Given the description of an element on the screen output the (x, y) to click on. 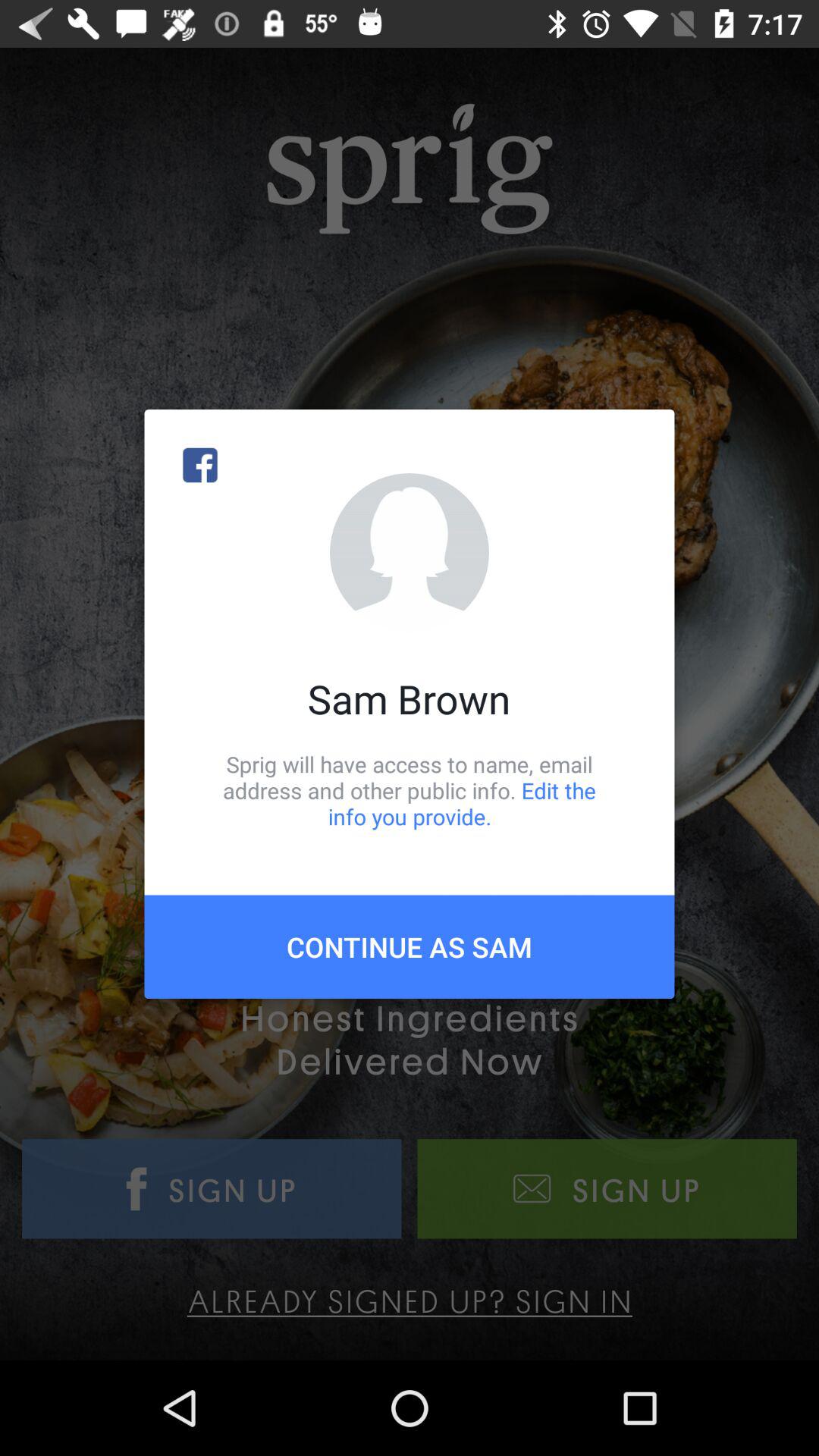
flip until the sprig will have (409, 790)
